Given the description of an element on the screen output the (x, y) to click on. 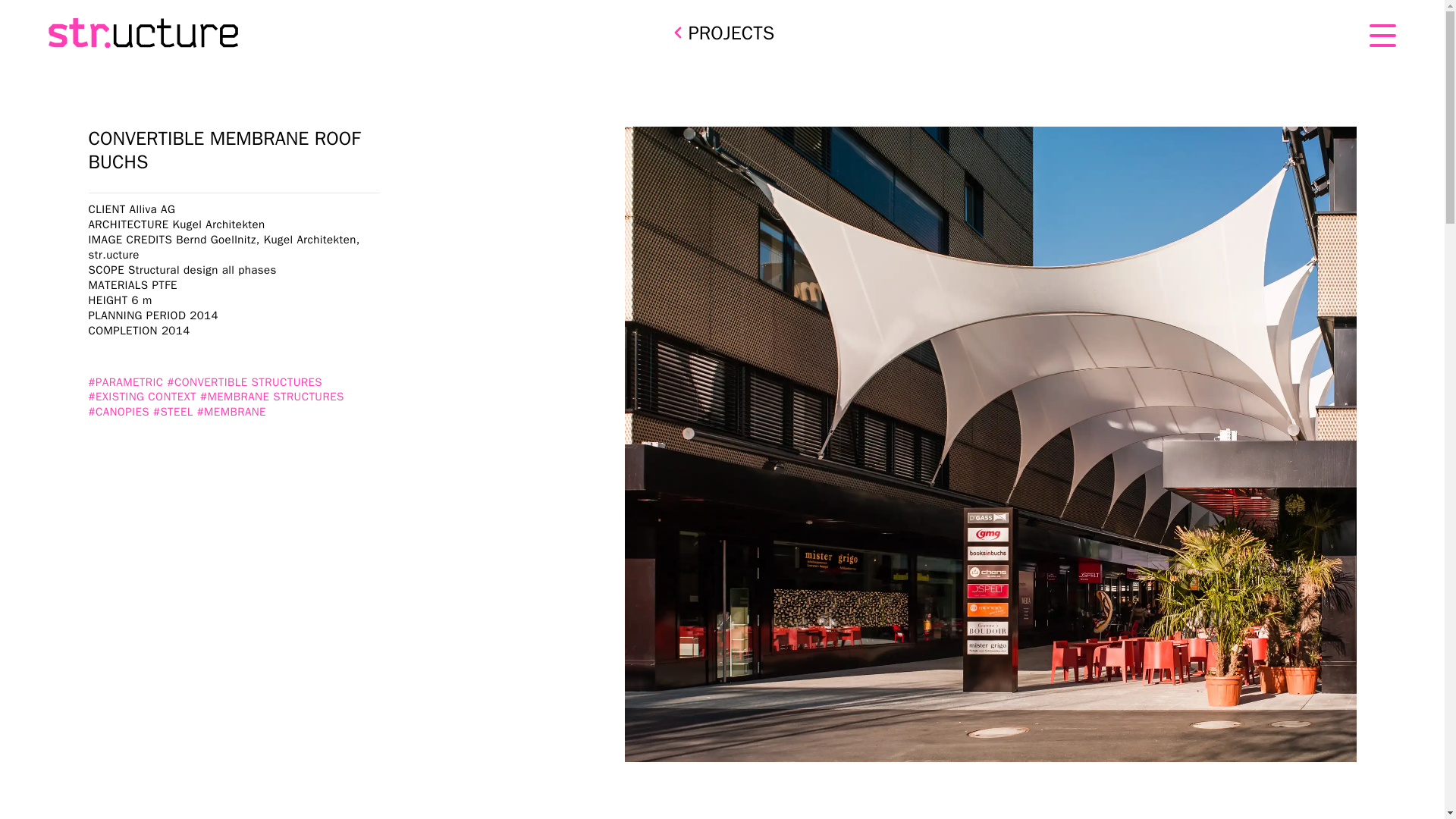
PROJECTS (721, 33)
